Given the description of an element on the screen output the (x, y) to click on. 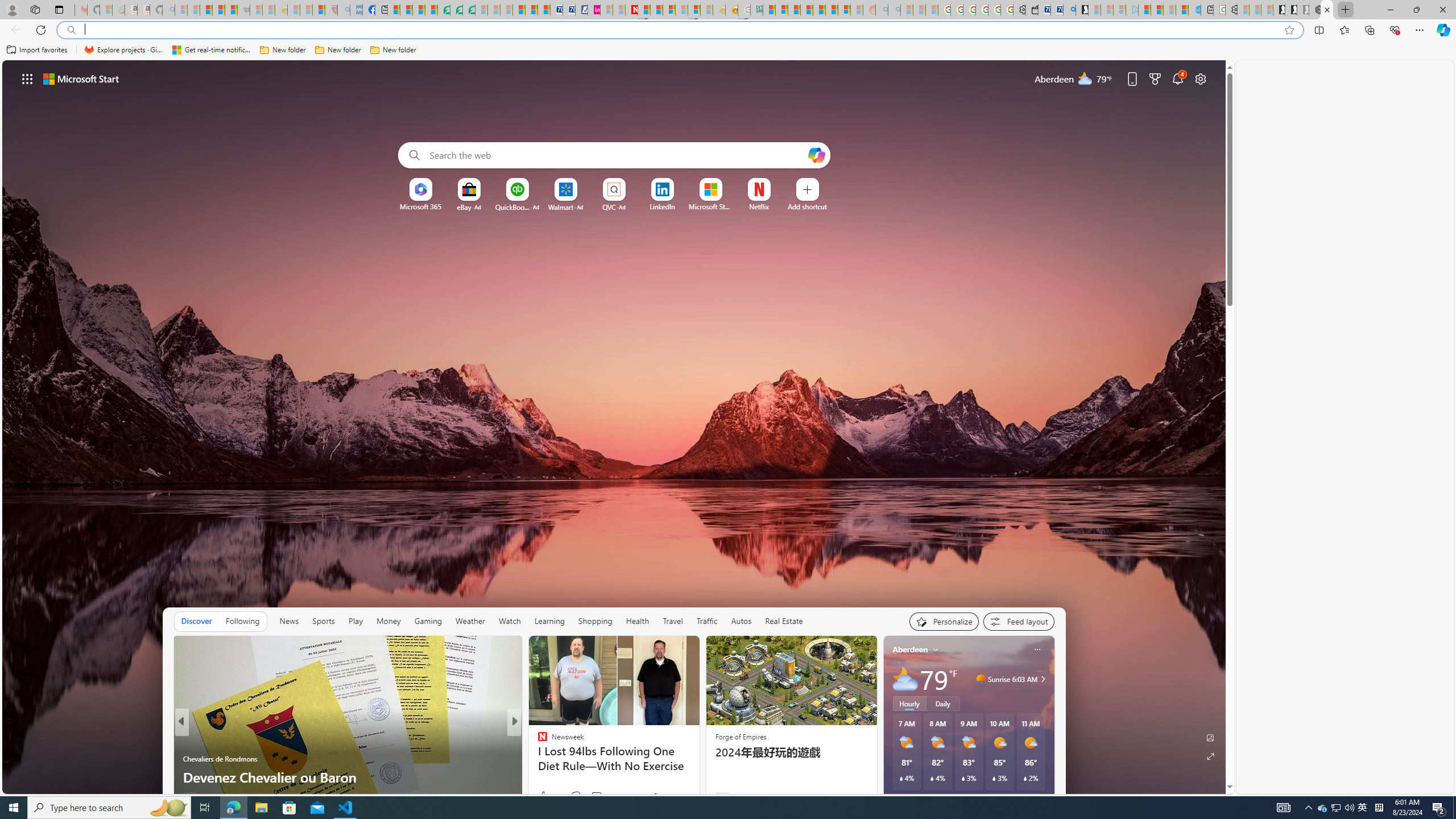
Body Network (537, 758)
CNBC (537, 740)
Open Copilot (816, 155)
View comments 73 Comment (592, 797)
